Given the description of an element on the screen output the (x, y) to click on. 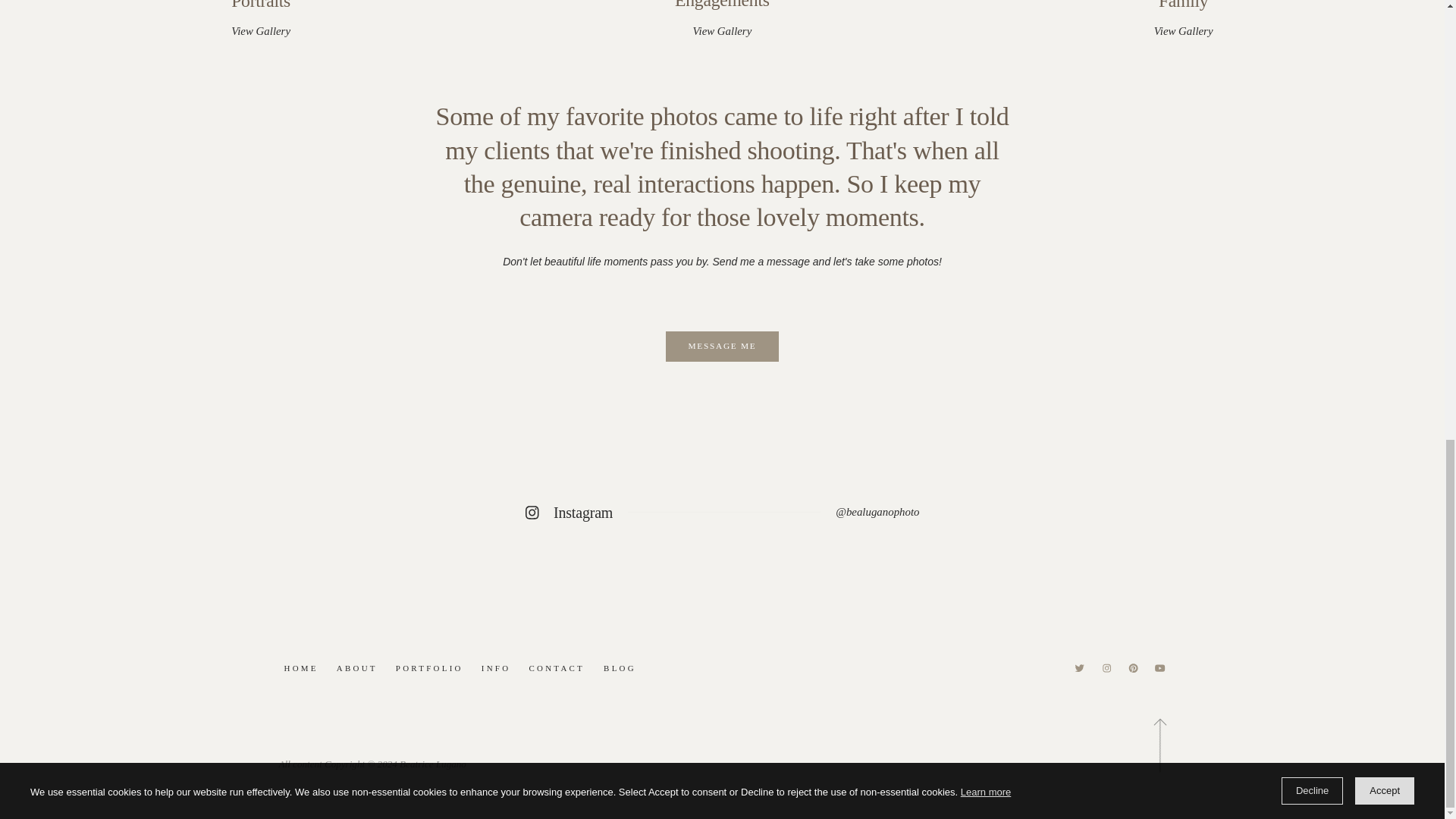
MESSAGE ME (722, 19)
